Given the description of an element on the screen output the (x, y) to click on. 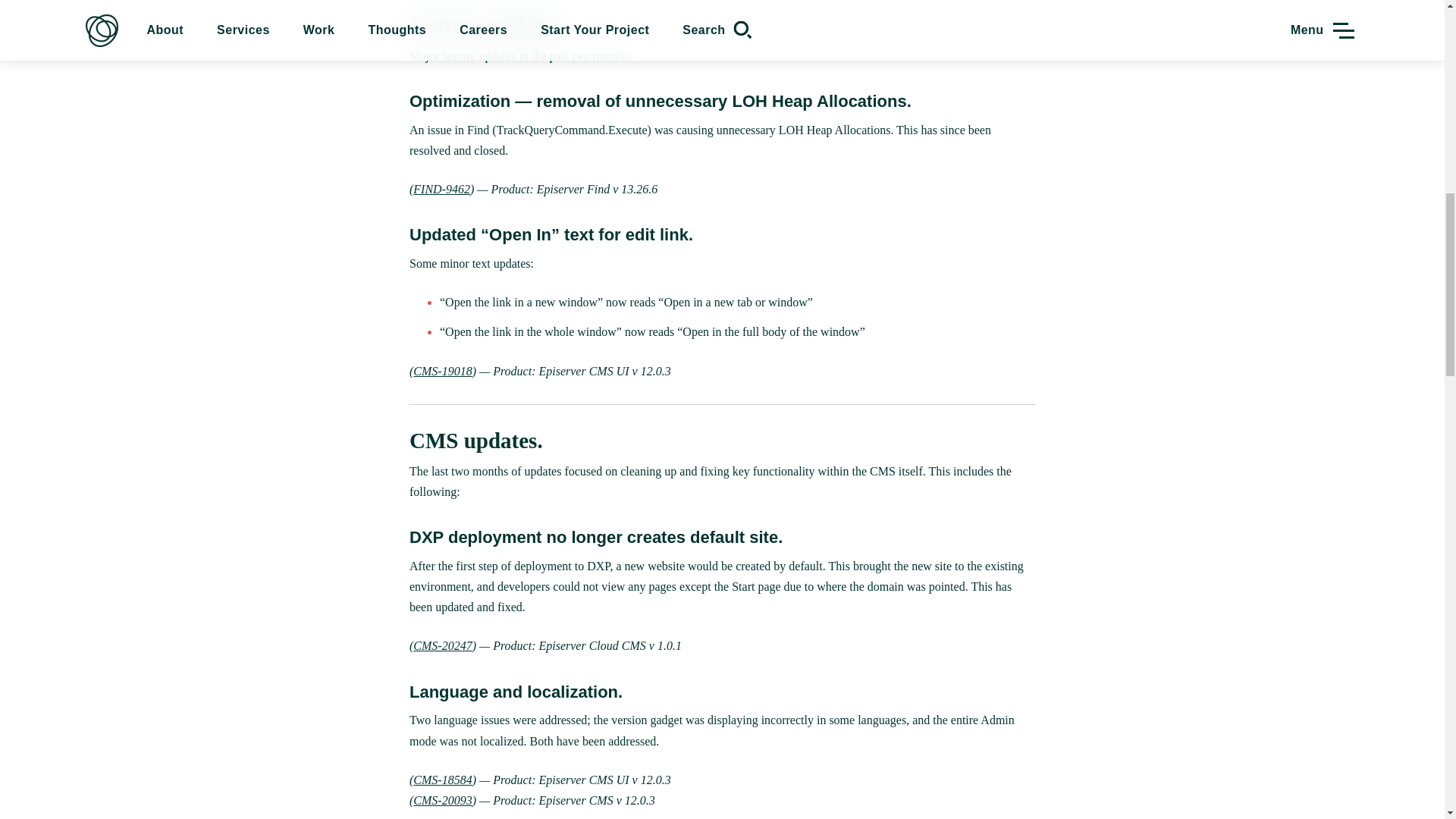
CMS-19018 (442, 370)
CMS-18584 (442, 779)
CMS-20247 (442, 645)
FIND-9462 (441, 188)
CMS-20093 (442, 799)
